Given the description of an element on the screen output the (x, y) to click on. 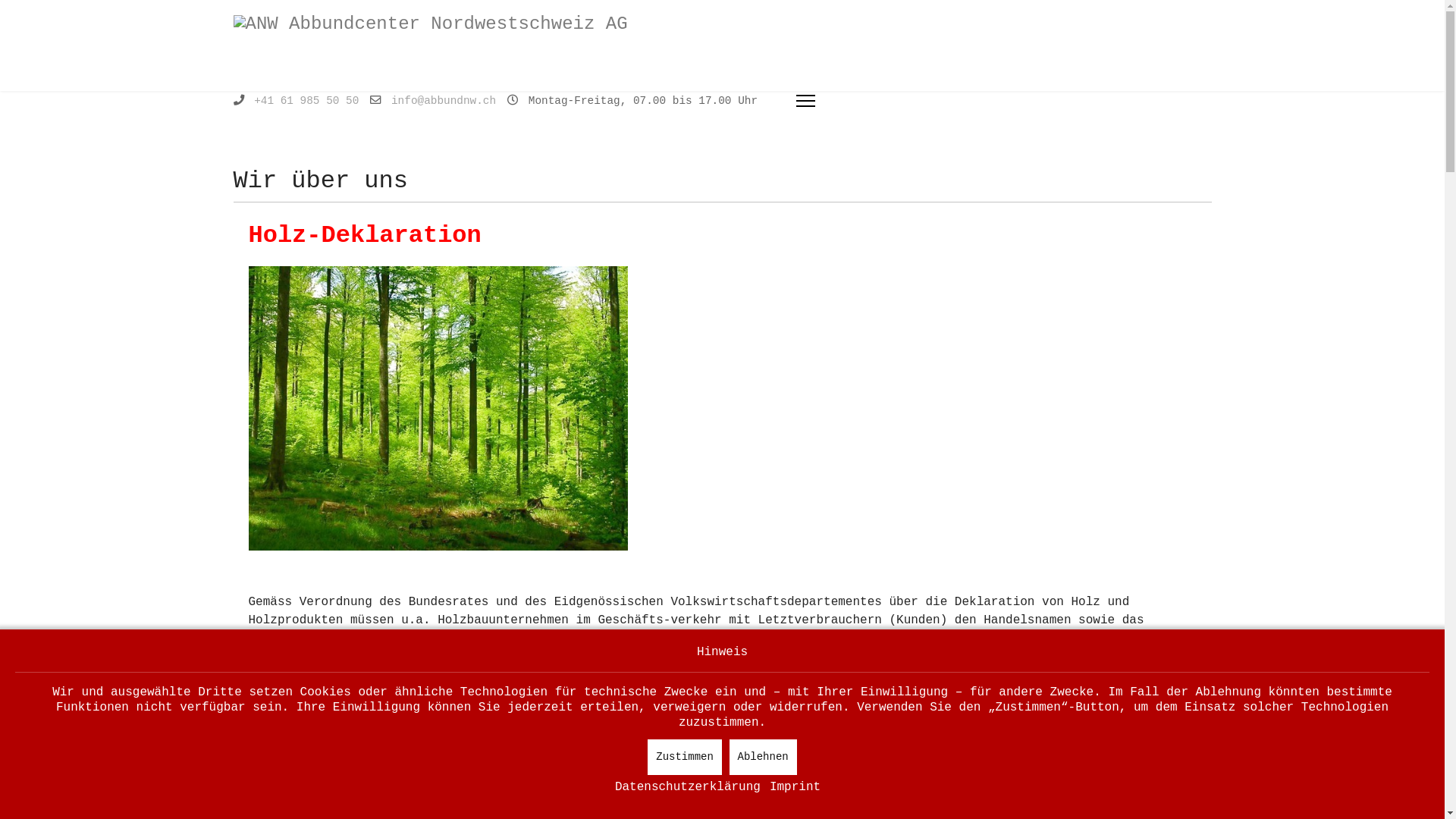
Ablehnen Element type: text (763, 757)
+41 61 985 50 50 Element type: text (306, 100)
Imprint Element type: text (794, 787)
info@abbundnw.ch Element type: text (443, 100)
Zustimmen Element type: text (684, 757)
Menu Element type: hover (805, 100)
